Given the description of an element on the screen output the (x, y) to click on. 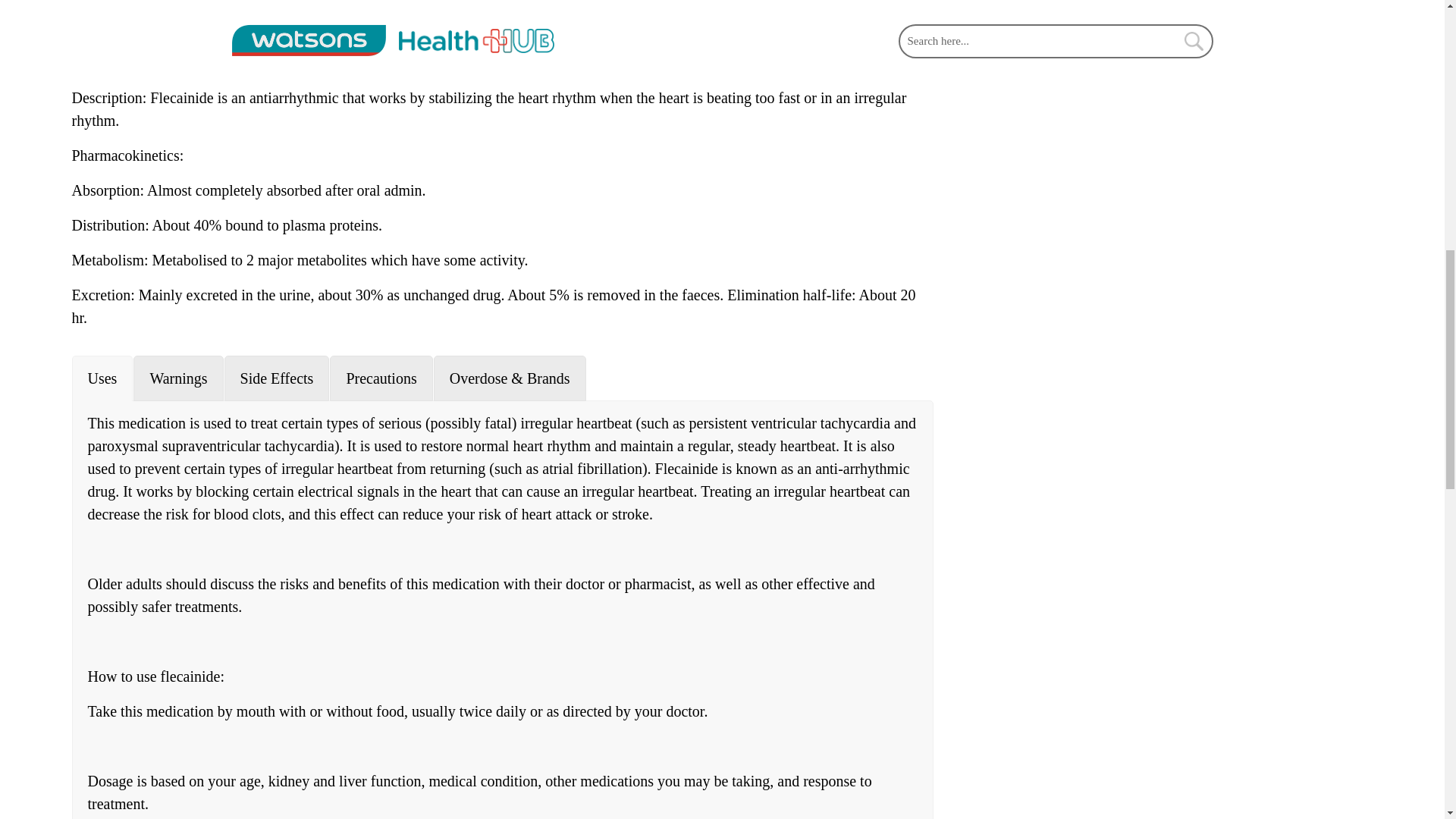
Side Effects (277, 378)
Warnings (177, 378)
Uses (101, 378)
Precautions (381, 378)
